Given the description of an element on the screen output the (x, y) to click on. 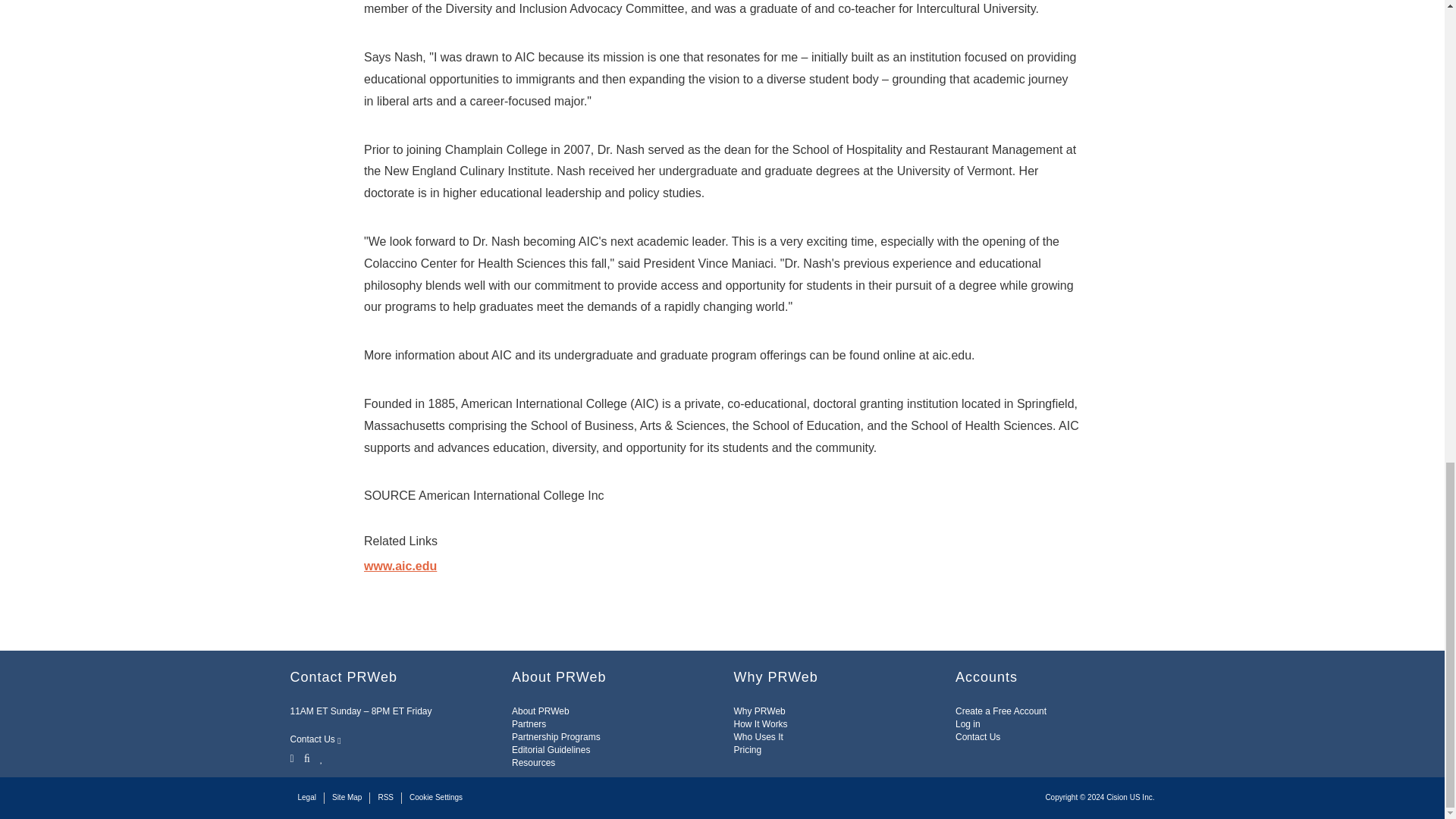
Partnership Programs (555, 737)
About PRWeb (540, 710)
Resources (533, 762)
Facebook (306, 757)
Editorial Guidelines (550, 749)
Partners (529, 724)
Why PRWeb (759, 710)
